Given the description of an element on the screen output the (x, y) to click on. 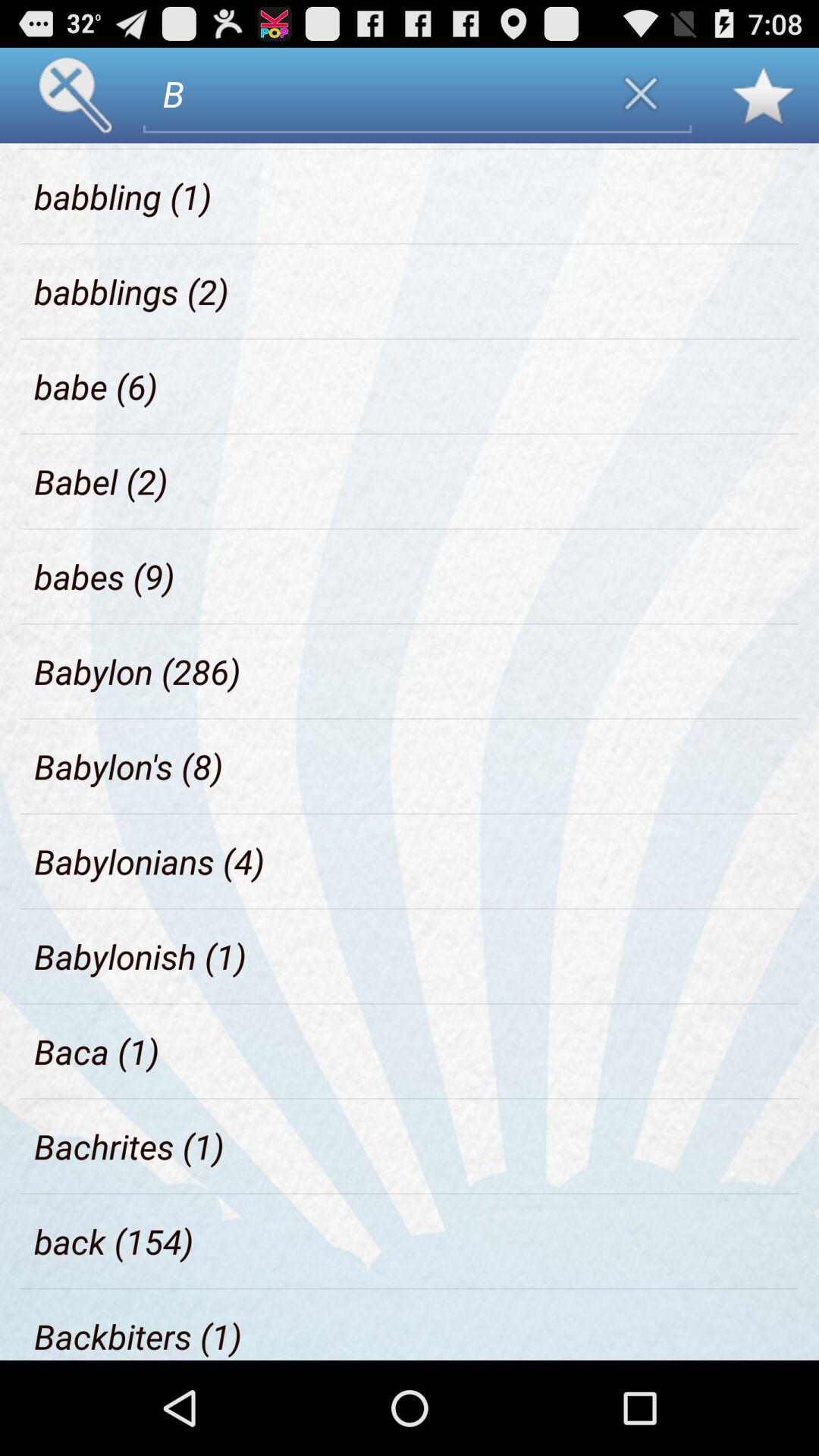
select app above back (154) icon (129, 1146)
